Given the description of an element on the screen output the (x, y) to click on. 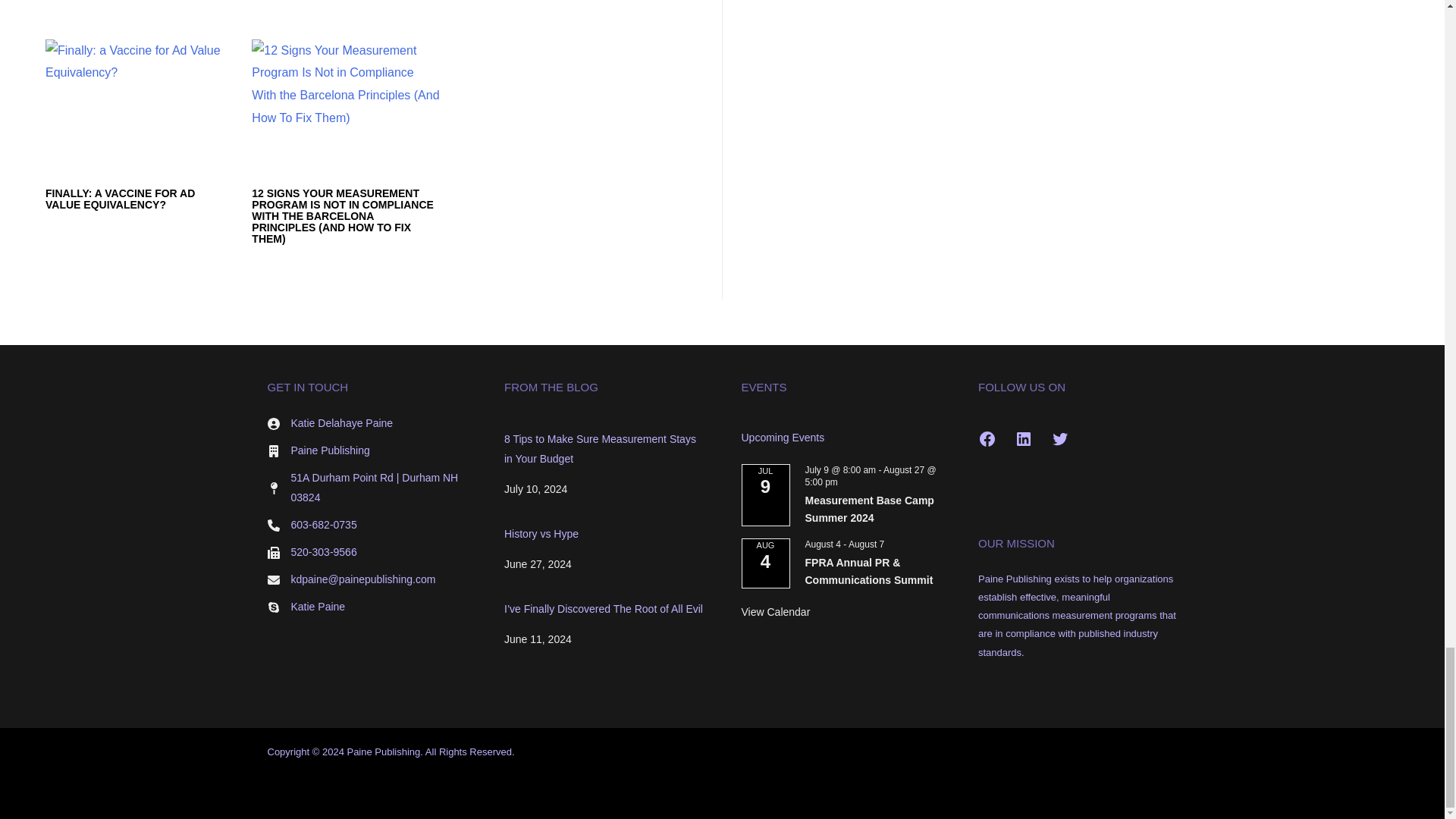
View more events. (775, 612)
Measurement Base Camp Summer 2024 (869, 509)
